Given the description of an element on the screen output the (x, y) to click on. 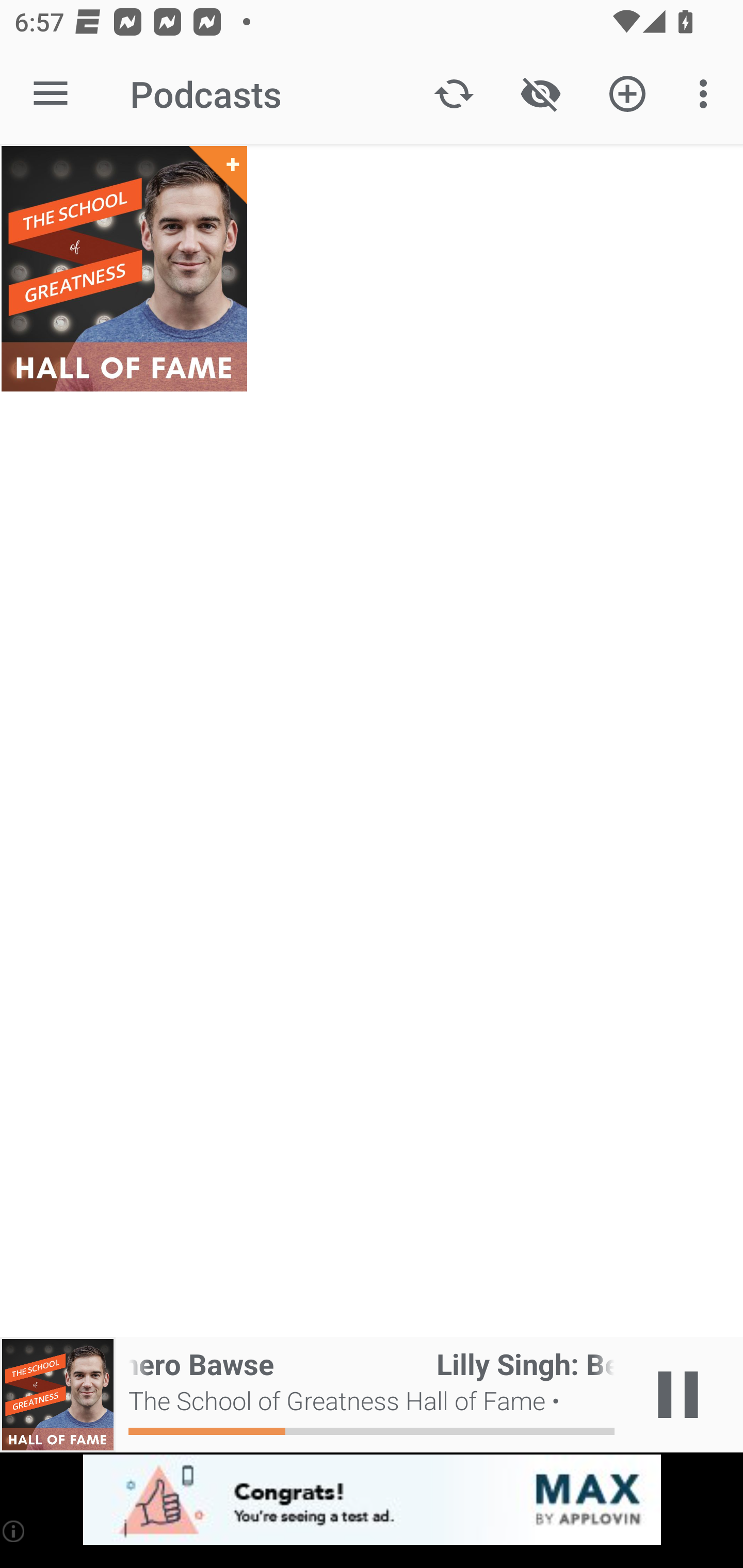
Open navigation sidebar (50, 93)
Update (453, 93)
Show / Hide played content (540, 93)
Add new Podcast (626, 93)
More options (706, 93)
The School of Greatness Hall of Fame + (124, 268)
Play / Pause (677, 1394)
app-monetization (371, 1500)
(i) (14, 1531)
